Given the description of an element on the screen output the (x, y) to click on. 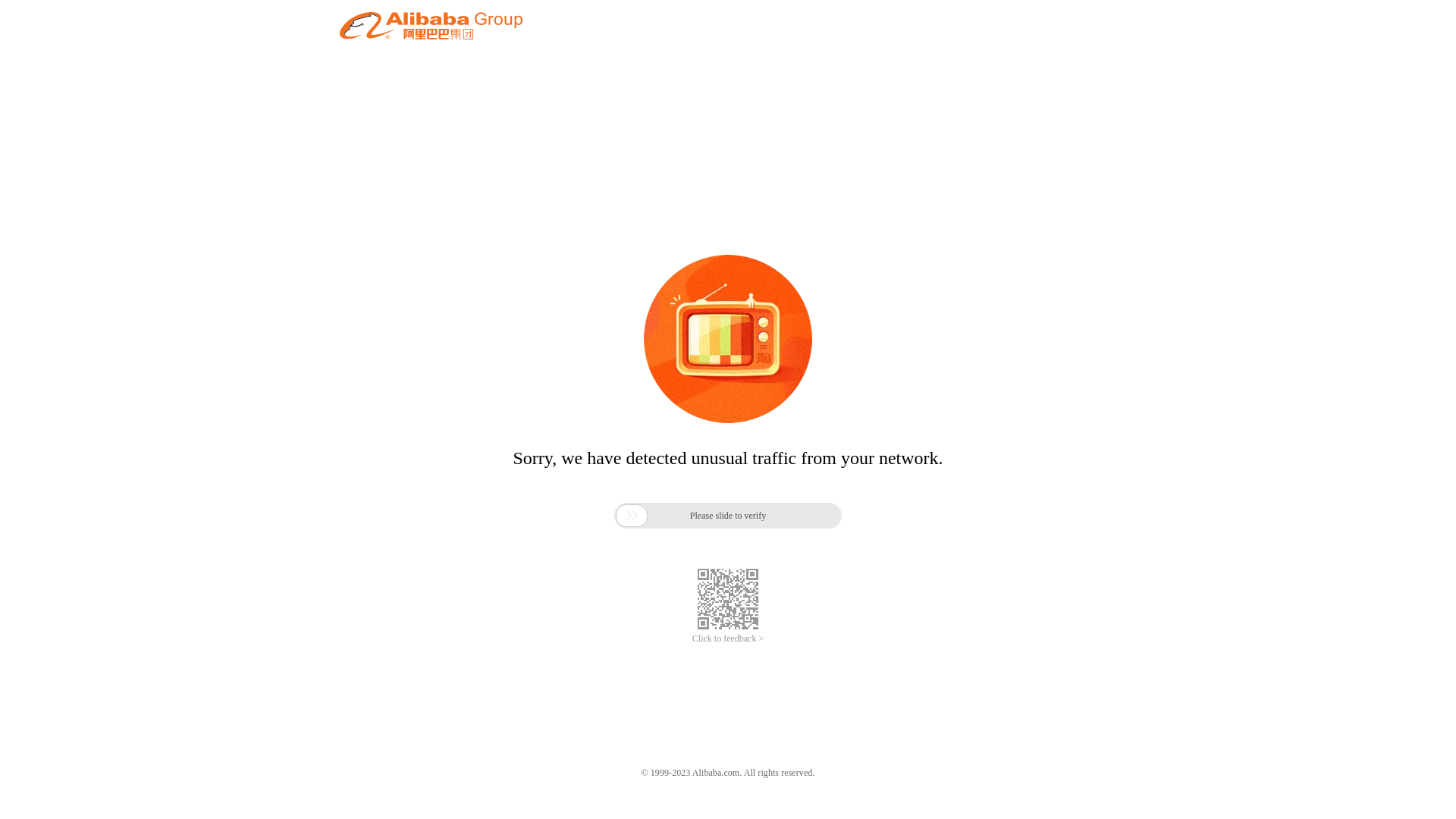
Click to feedback > Element type: text (727, 638)
